Given the description of an element on the screen output the (x, y) to click on. 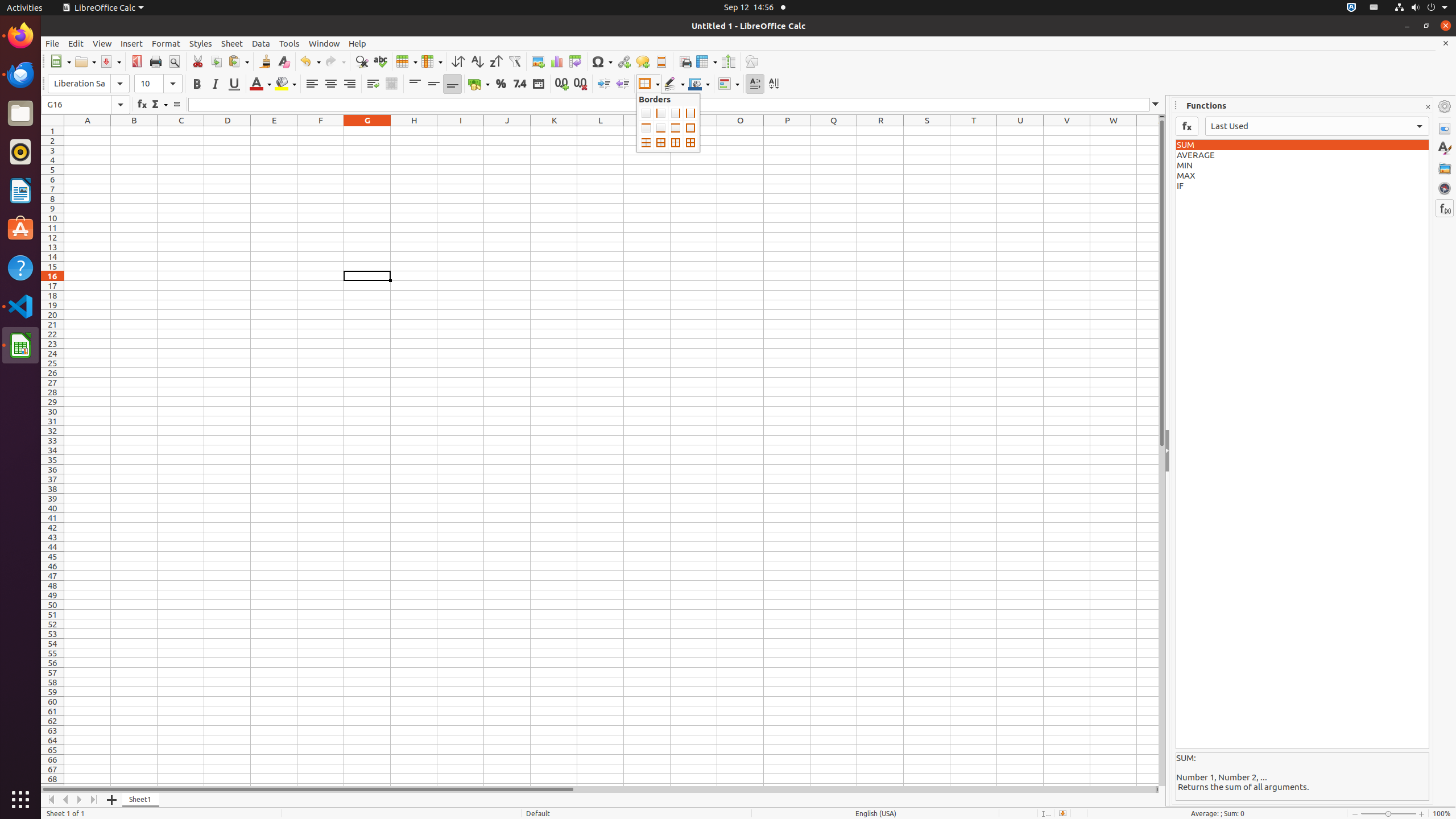
Sort Element type: push-button (457, 61)
Pivot Table Element type: push-button (574, 61)
Spelling Element type: push-button (379, 61)
Data Element type: menu (260, 43)
Expand Formula Bar Element type: push-button (1155, 104)
